Given the description of an element on the screen output the (x, y) to click on. 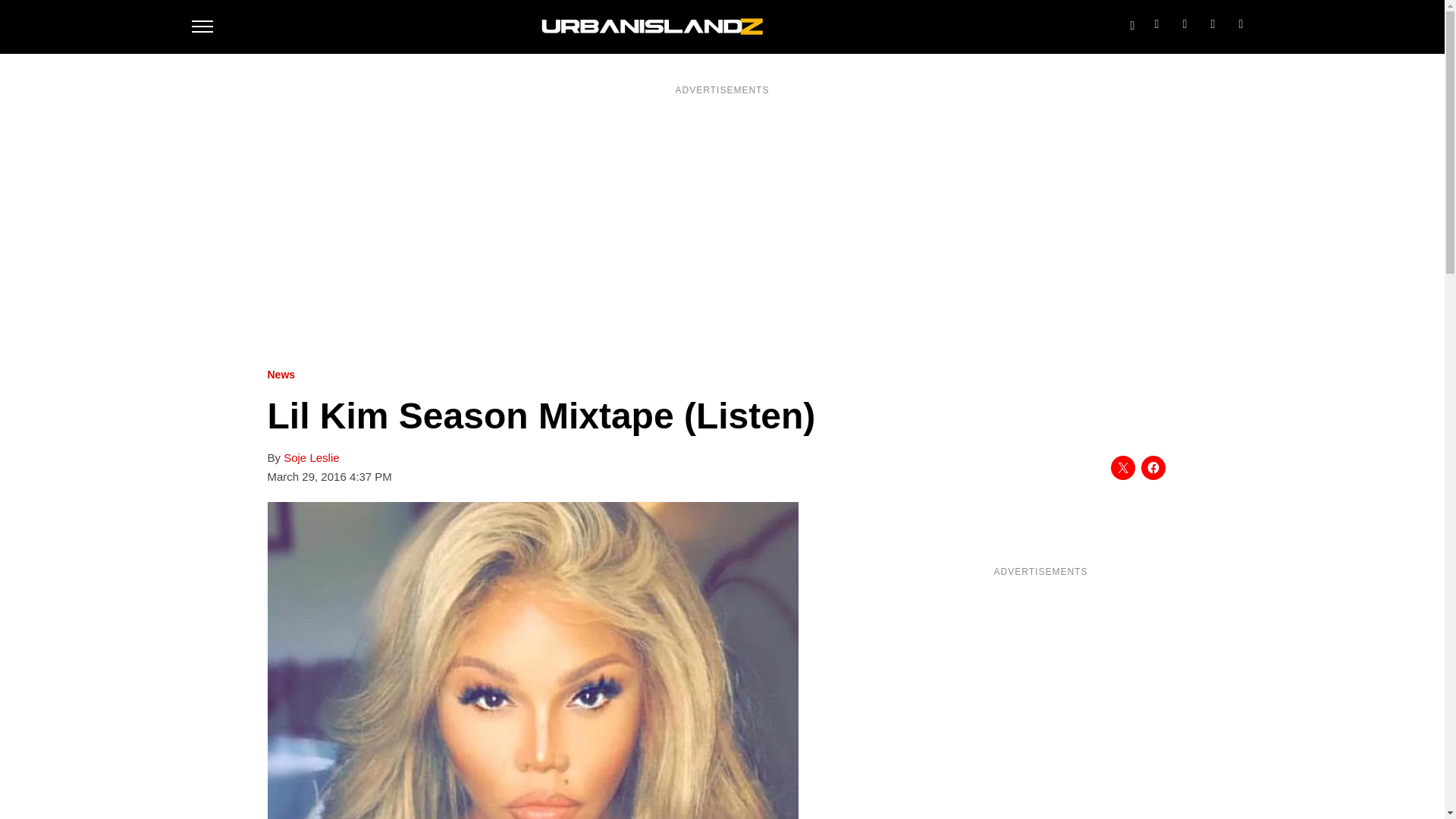
Soje Leslie (311, 458)
News (280, 375)
Click to share on X (1121, 467)
Click to share on Facebook (1152, 467)
Search (1131, 22)
Advertisement (1039, 692)
Posts by Soje Leslie (311, 458)
